Given the description of an element on the screen output the (x, y) to click on. 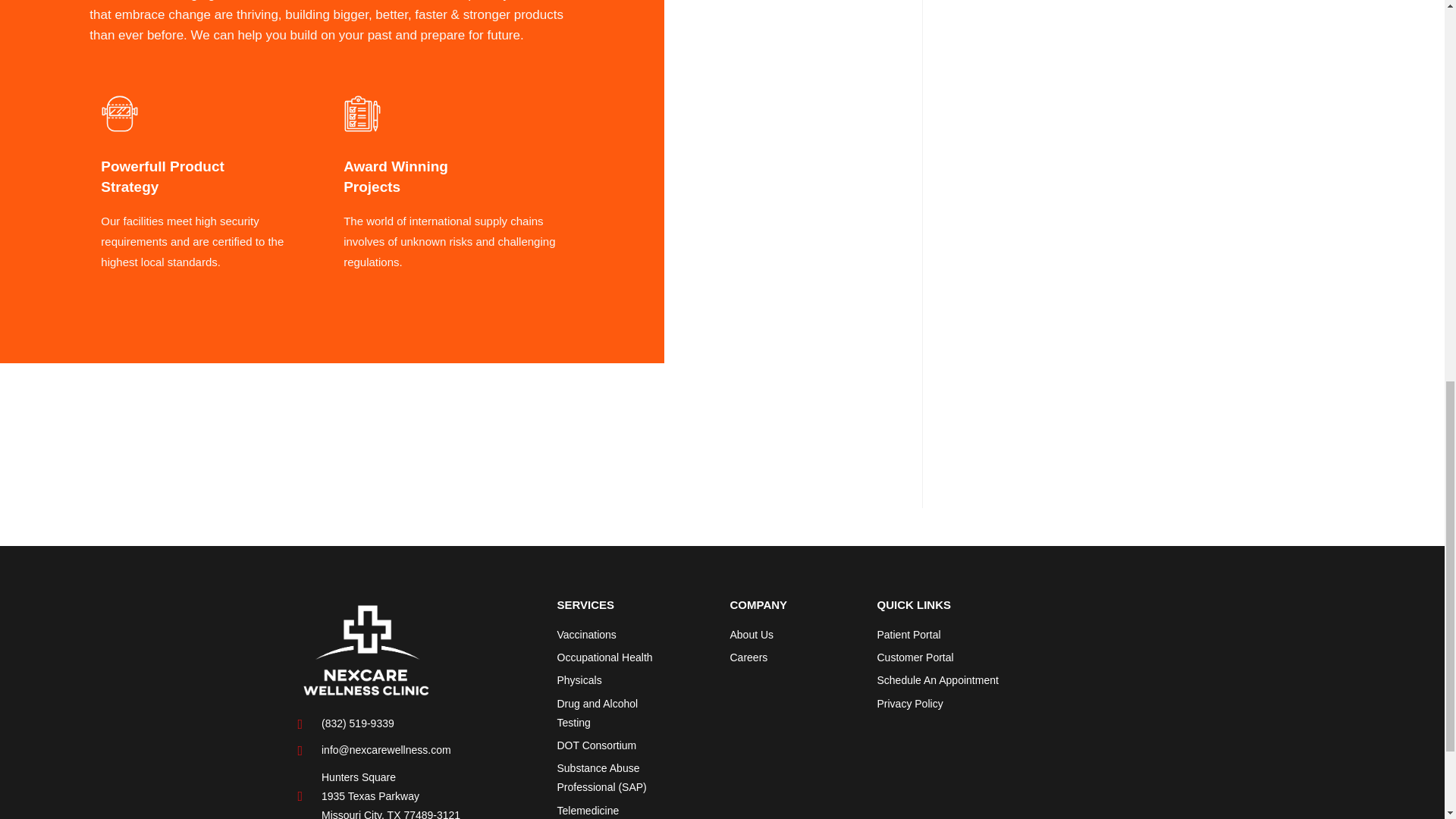
Vaccinations (613, 634)
Occupational Health (613, 657)
Physicals (613, 680)
DOT Consortium (613, 745)
Drug and Alcohol Testing (613, 713)
